Given the description of an element on the screen output the (x, y) to click on. 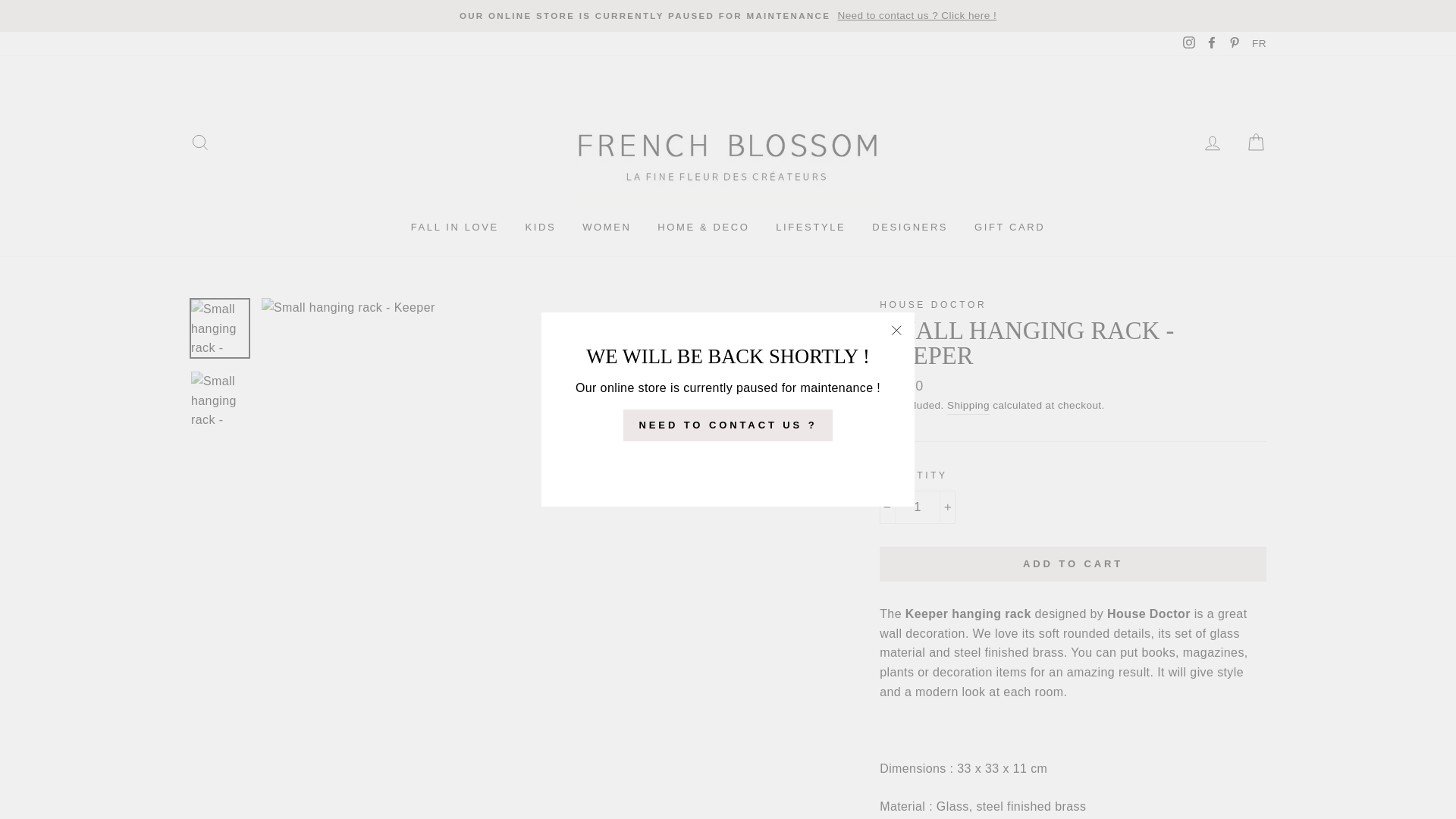
1 (917, 507)
